Given the description of an element on the screen output the (x, y) to click on. 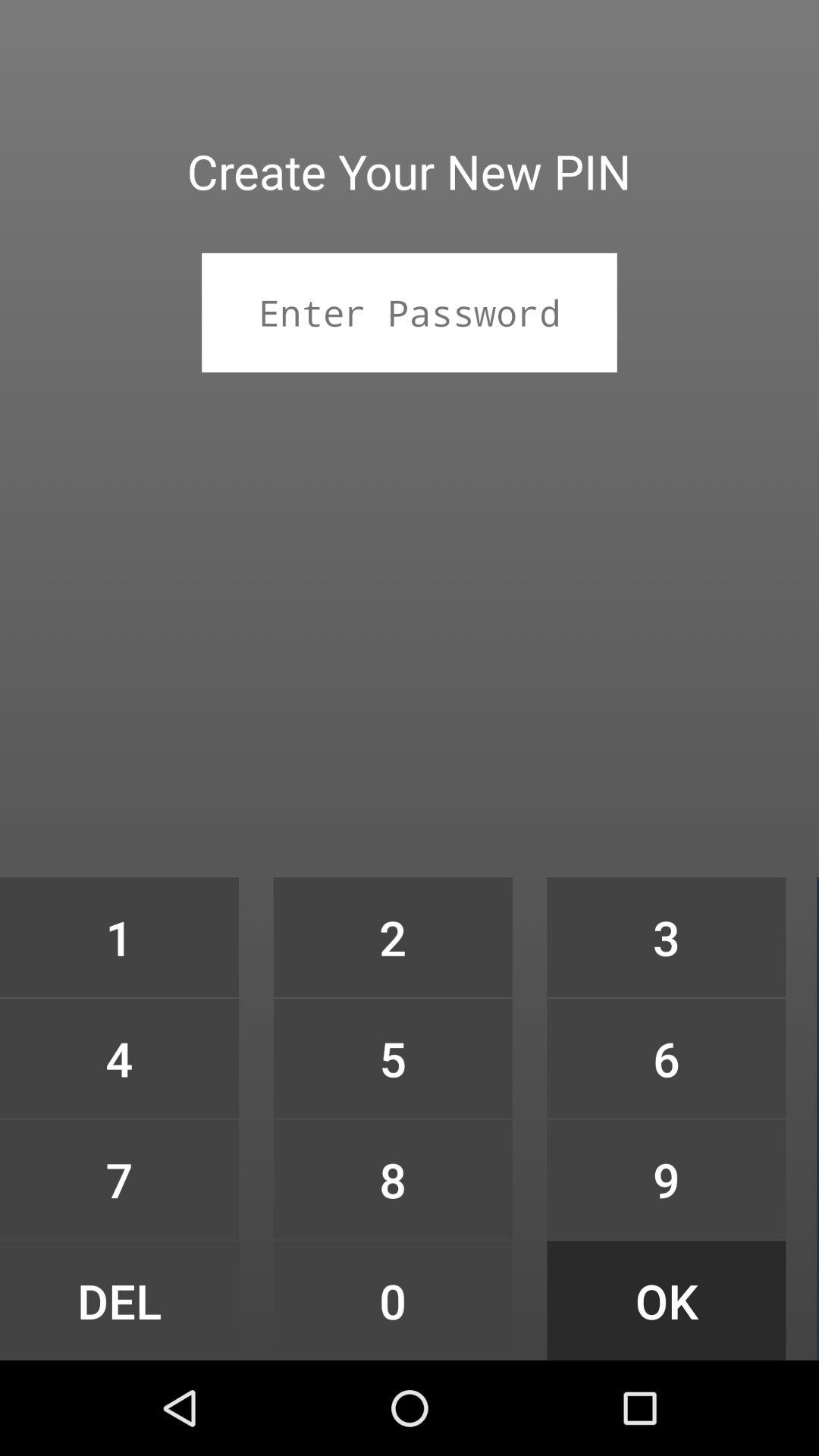
password input field (409, 312)
